Given the description of an element on the screen output the (x, y) to click on. 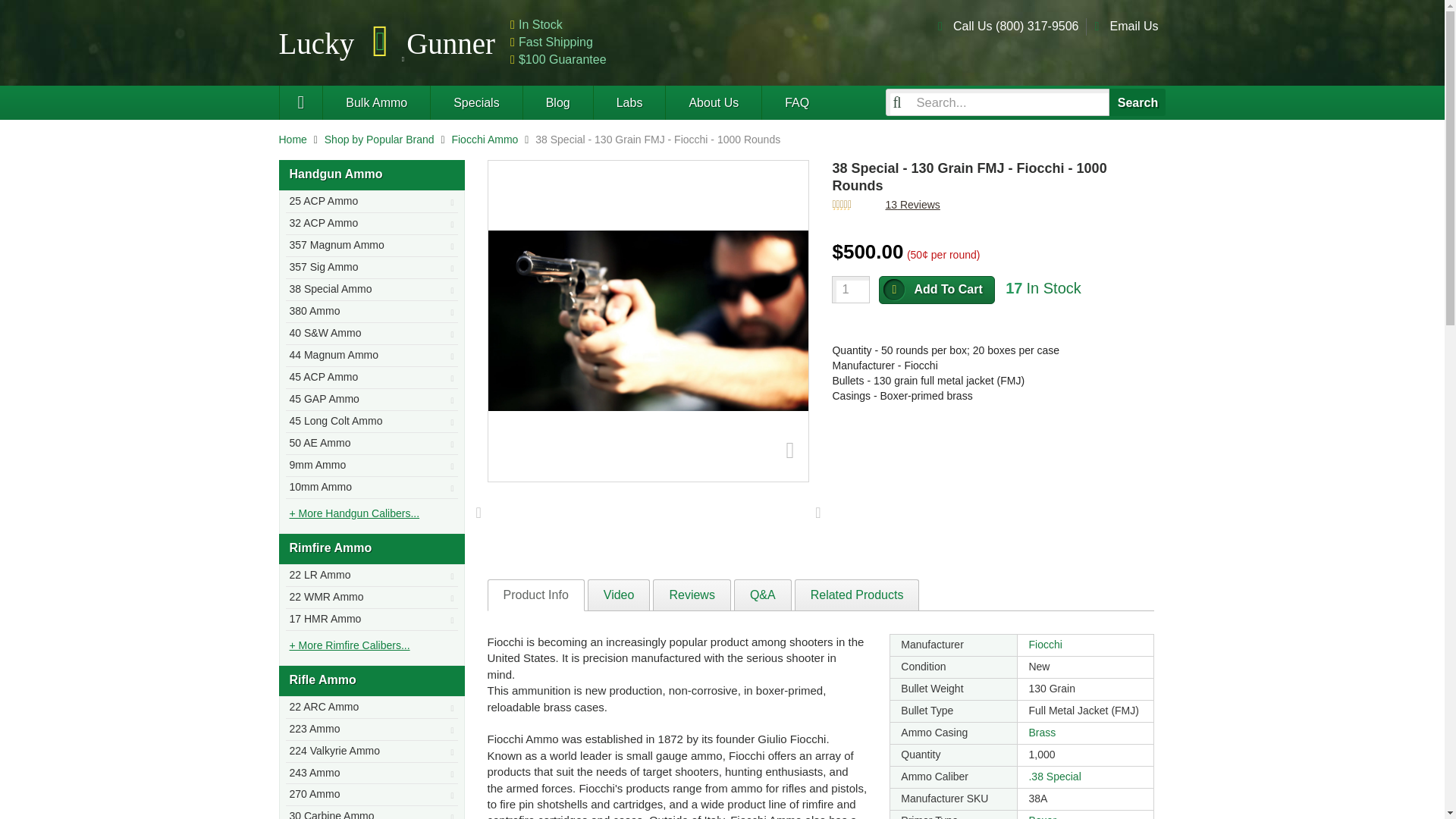
About Lucky Gunner (713, 102)
Shop by Popular Brand (378, 139)
Email Us (1133, 25)
Call Us (1015, 25)
Lucky Gunner (301, 102)
Fiocchi Ammo (484, 139)
Bulk Ammunition (375, 102)
Special Ammunition Deals (475, 102)
Home (293, 139)
1 (850, 289)
Search (1137, 102)
Email Us (1133, 25)
LuckyGunner's Ammunition Laboratory (628, 102)
Cheap Ammo For Sale at Lucky Gunner (387, 42)
The Lucky Gunner Lounge (557, 102)
